Given the description of an element on the screen output the (x, y) to click on. 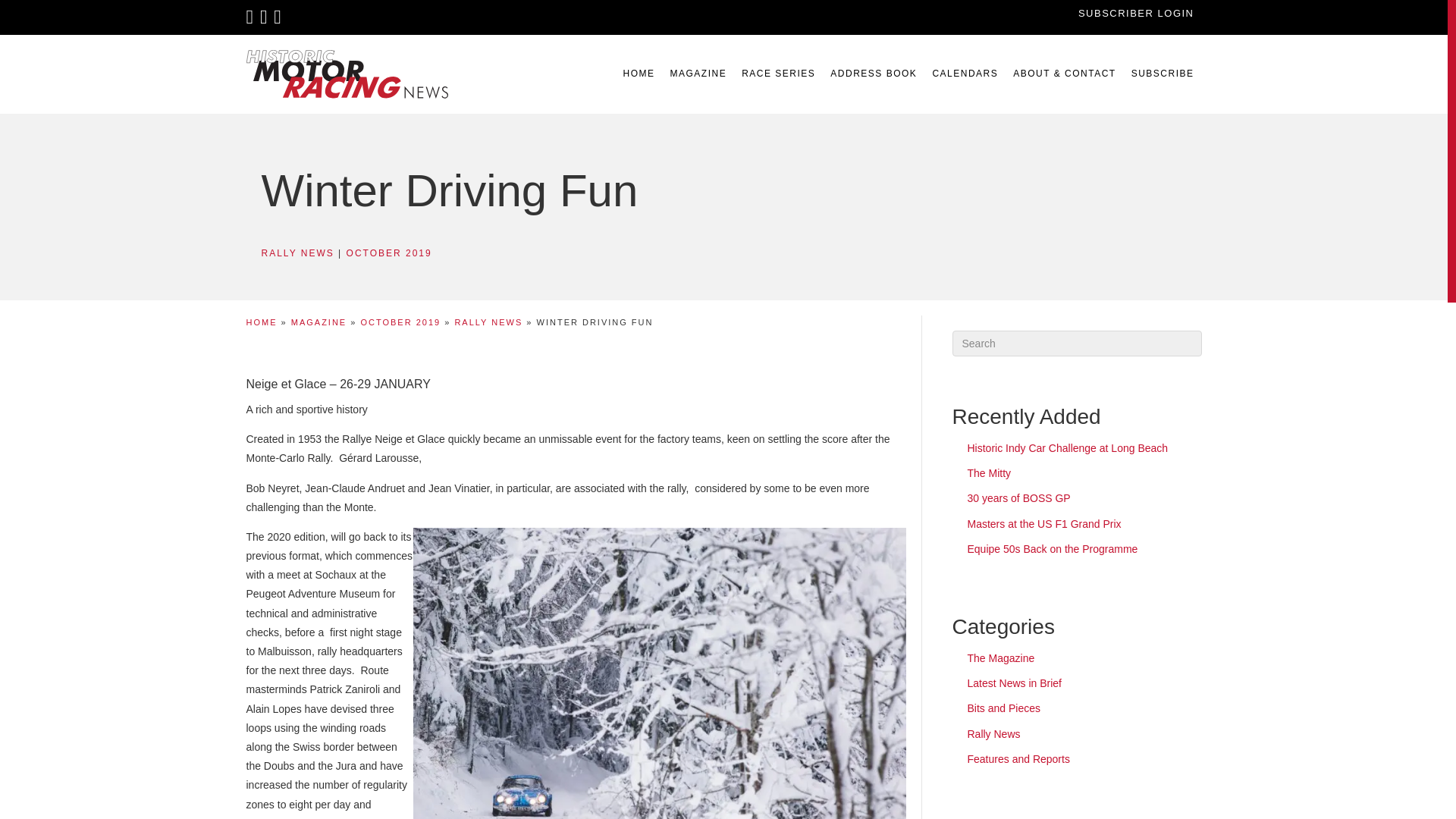
The Mitty (989, 472)
Latest News in Brief (1015, 683)
ADDRESS BOOK (873, 74)
30 years of BOSS GP (1019, 498)
Bits and Pieces (1004, 707)
HOME (261, 321)
OCTOBER 2019 (400, 321)
Features and Reports (1019, 758)
Historic Motor Racing News Logo (346, 73)
Rally News (994, 734)
RALLY NEWS (296, 253)
CALENDARS (965, 74)
Masters at the US F1 Grand Prix (1044, 523)
The Magazine (1001, 657)
MAGAZINE (318, 321)
